Given the description of an element on the screen output the (x, y) to click on. 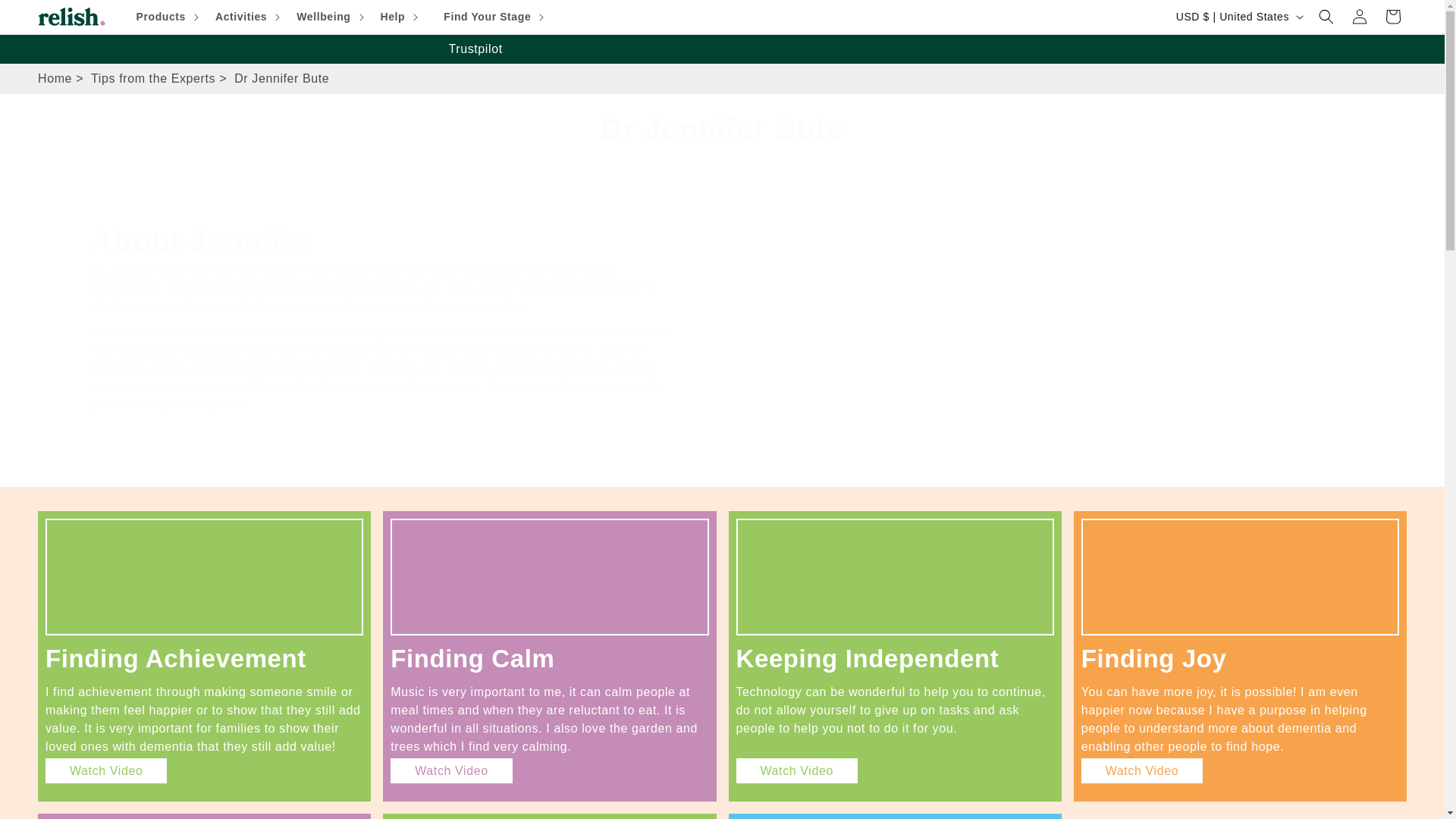
Skip to content (45, 13)
Dr Jennifer Bute (721, 128)
